Given the description of an element on the screen output the (x, y) to click on. 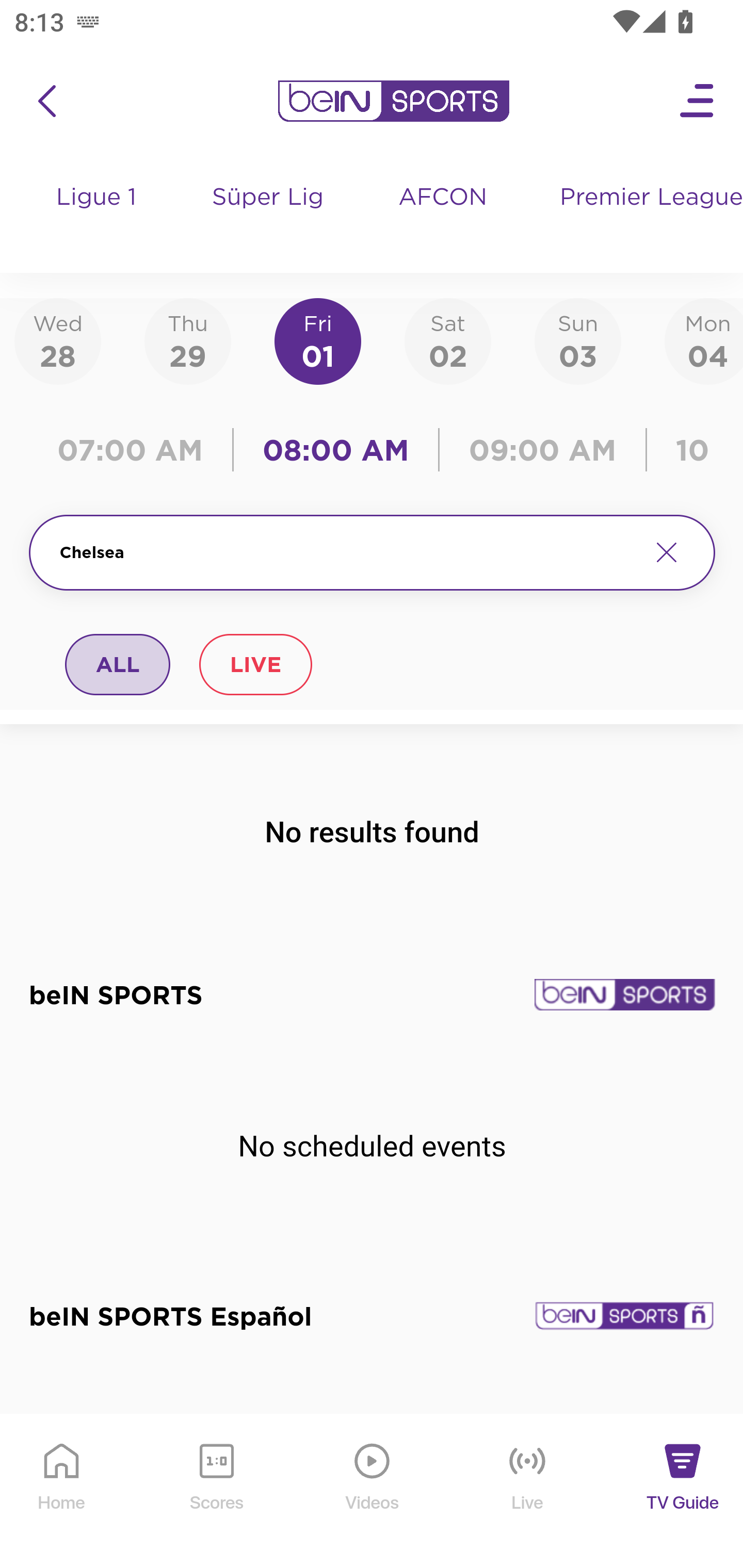
en-us?platform=mobile_android bein logo (392, 101)
icon back (46, 101)
Open Menu Icon (697, 101)
Ligue 1 (97, 216)
Süper Lig (268, 216)
AFCON (442, 198)
Premier League (643, 198)
Wed28 (58, 340)
Thu29 (187, 340)
Fri01 (318, 340)
Sat02 (447, 340)
Sun03 (578, 340)
Mon04 (703, 340)
07:00 AM (135, 449)
08:00 AM (336, 449)
09:00 AM (542, 449)
Chelsea (346, 552)
ALL (118, 663)
LIVE (255, 663)
Home Home Icon Home (61, 1491)
Scores Scores Icon Scores (216, 1491)
Videos Videos Icon Videos (372, 1491)
TV Guide TV Guide Icon TV Guide (682, 1491)
